Given the description of an element on the screen output the (x, y) to click on. 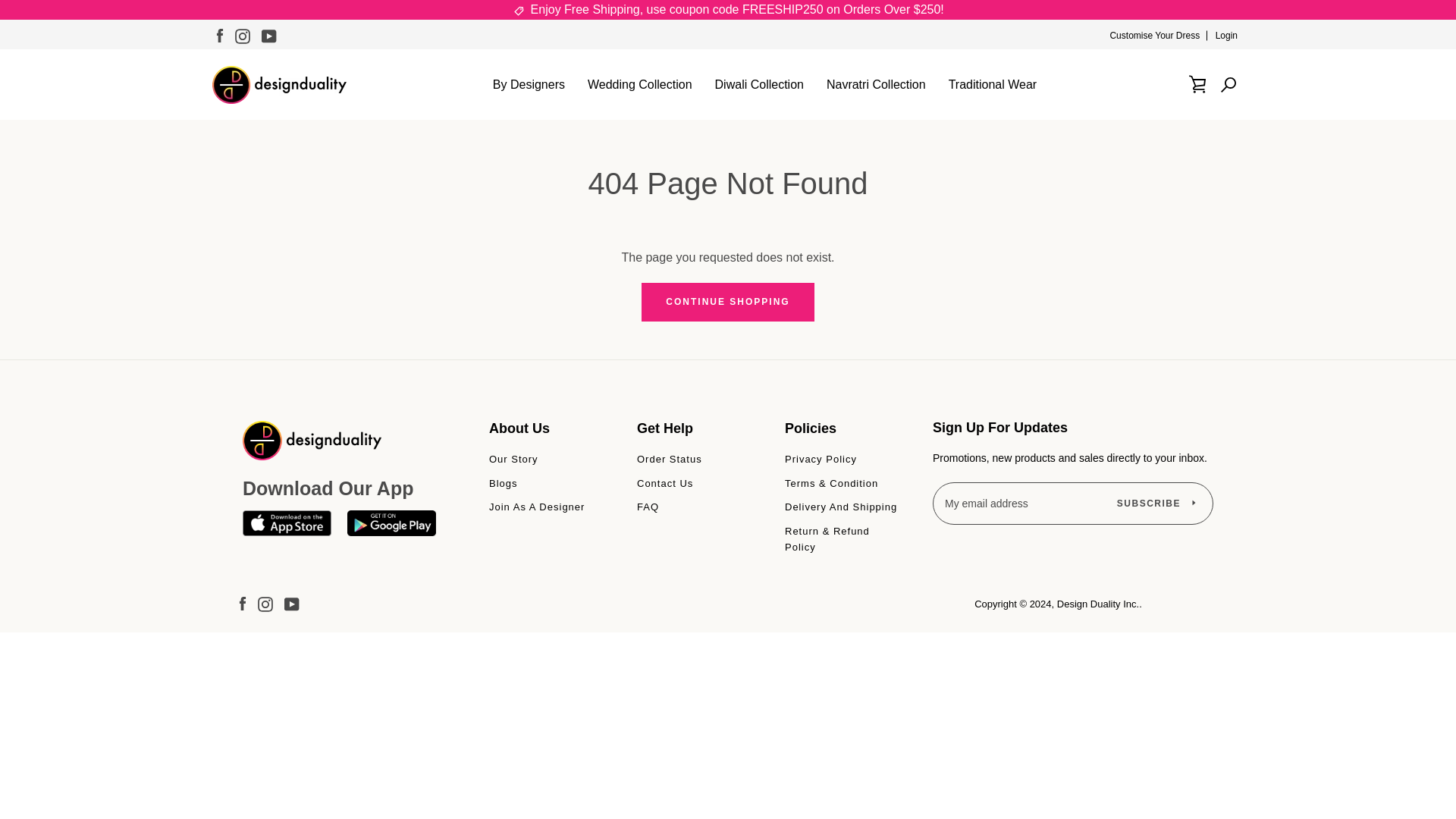
Facebook (242, 603)
Login (1226, 35)
Design Duality Inc. (1097, 603)
FAQ (648, 506)
SUBSCRIBE (1156, 503)
Instagram (242, 34)
Design Duality Inc. on Facebook (219, 34)
Delivery And Shipping (840, 506)
Diwali Collection (759, 84)
